Given the description of an element on the screen output the (x, y) to click on. 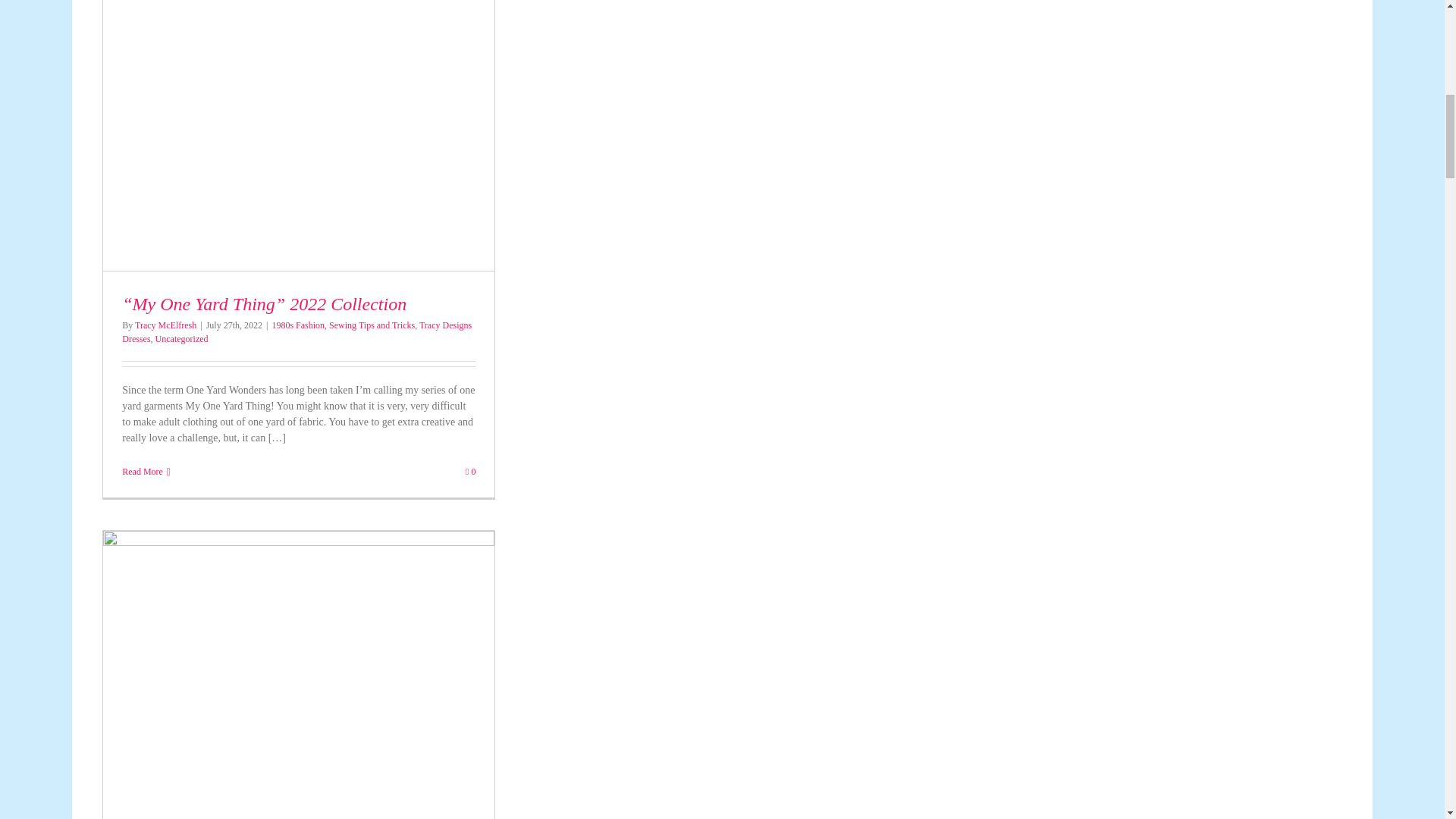
Posts by Tracy McElfresh (165, 325)
